Given the description of an element on the screen output the (x, y) to click on. 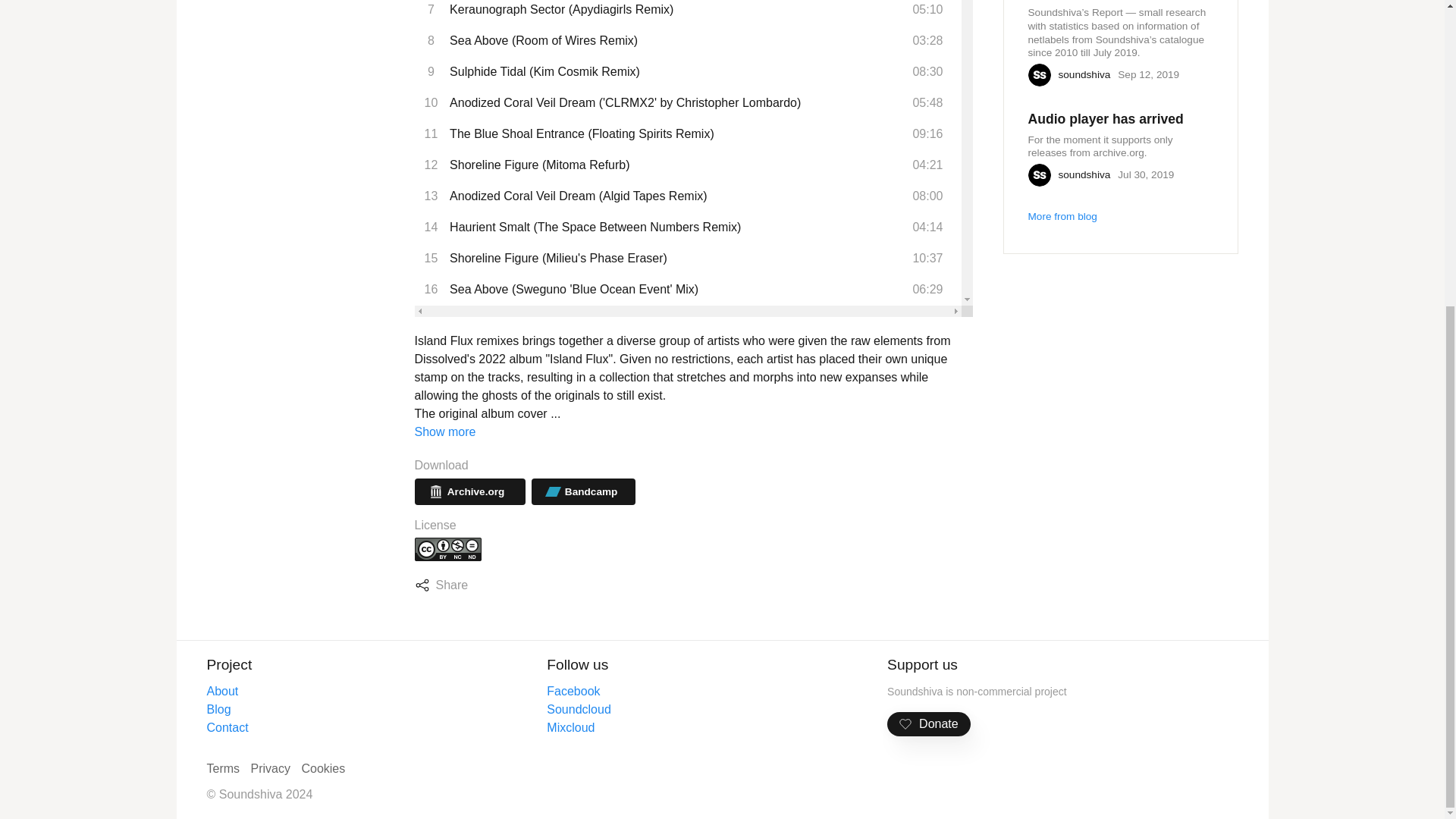
More from blog (1062, 215)
Bandcamp (582, 491)
Soundshiva's Report (1093, 1)
Audio player has arrived (1105, 118)
Download from Bandcamp (582, 491)
Blog (218, 708)
Soundcloud (579, 708)
Download from Archive.org (469, 491)
Contact (226, 727)
Facebook (573, 690)
